Given the description of an element on the screen output the (x, y) to click on. 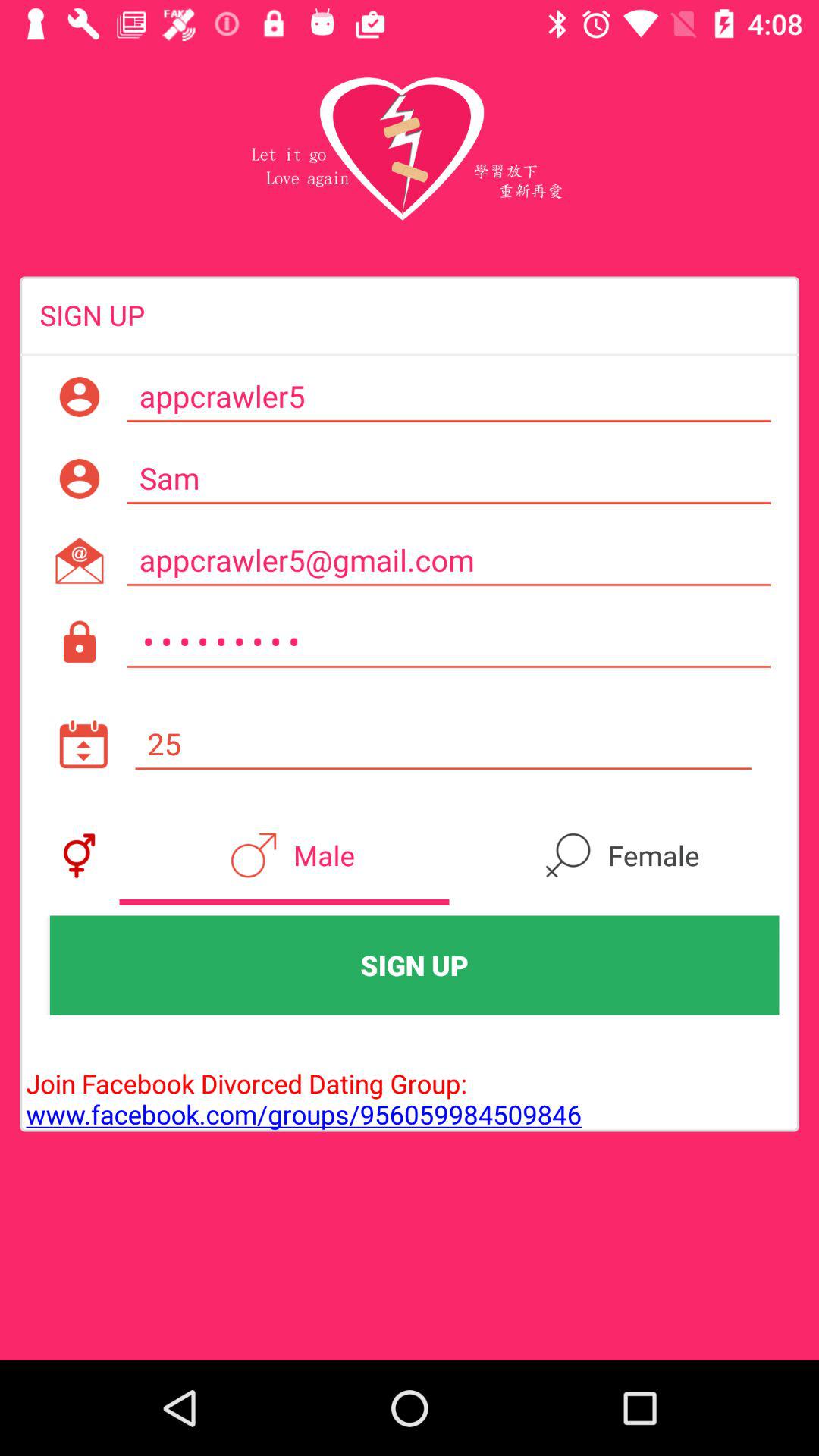
flip until the sam icon (449, 478)
